Given the description of an element on the screen output the (x, y) to click on. 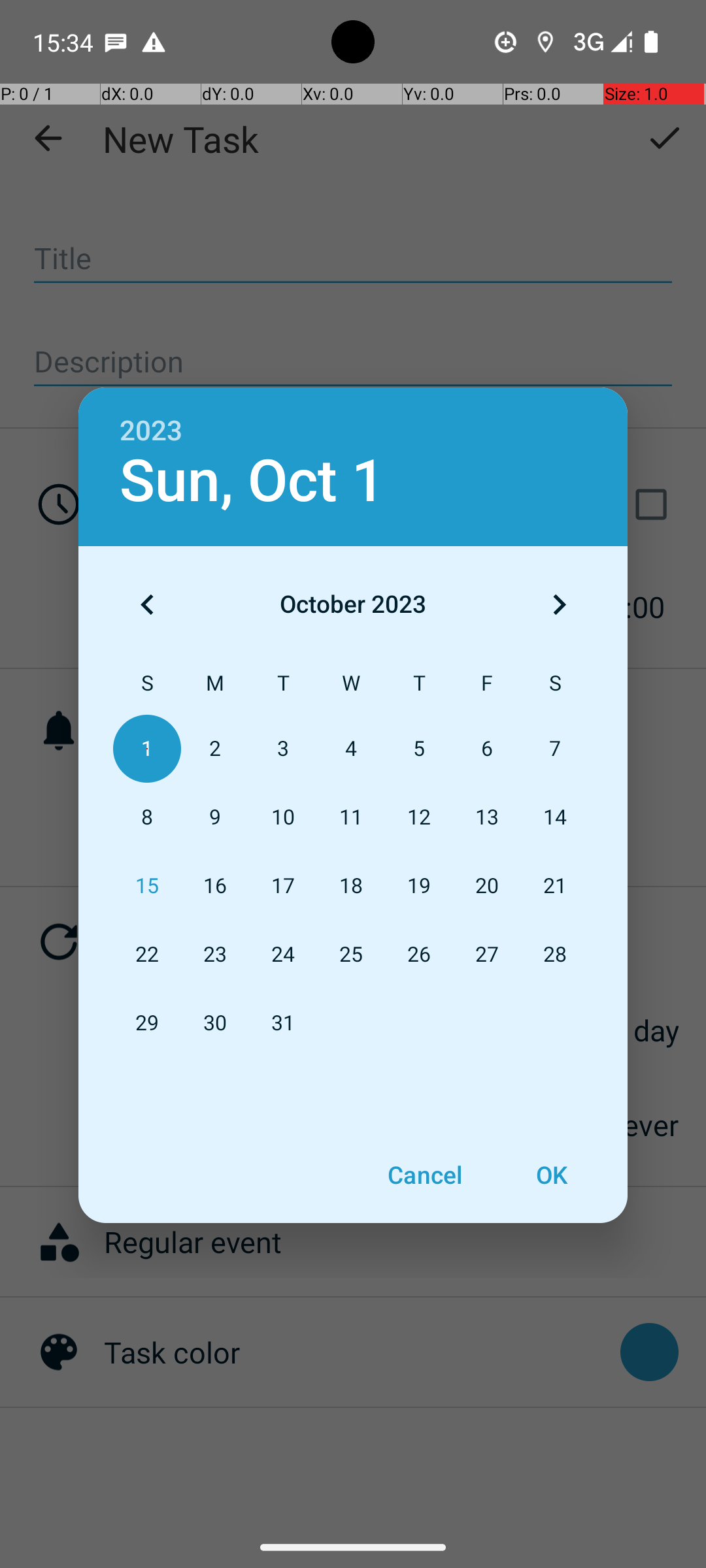
Sun, Oct 1 Element type: android.widget.TextView (252, 480)
